Given the description of an element on the screen output the (x, y) to click on. 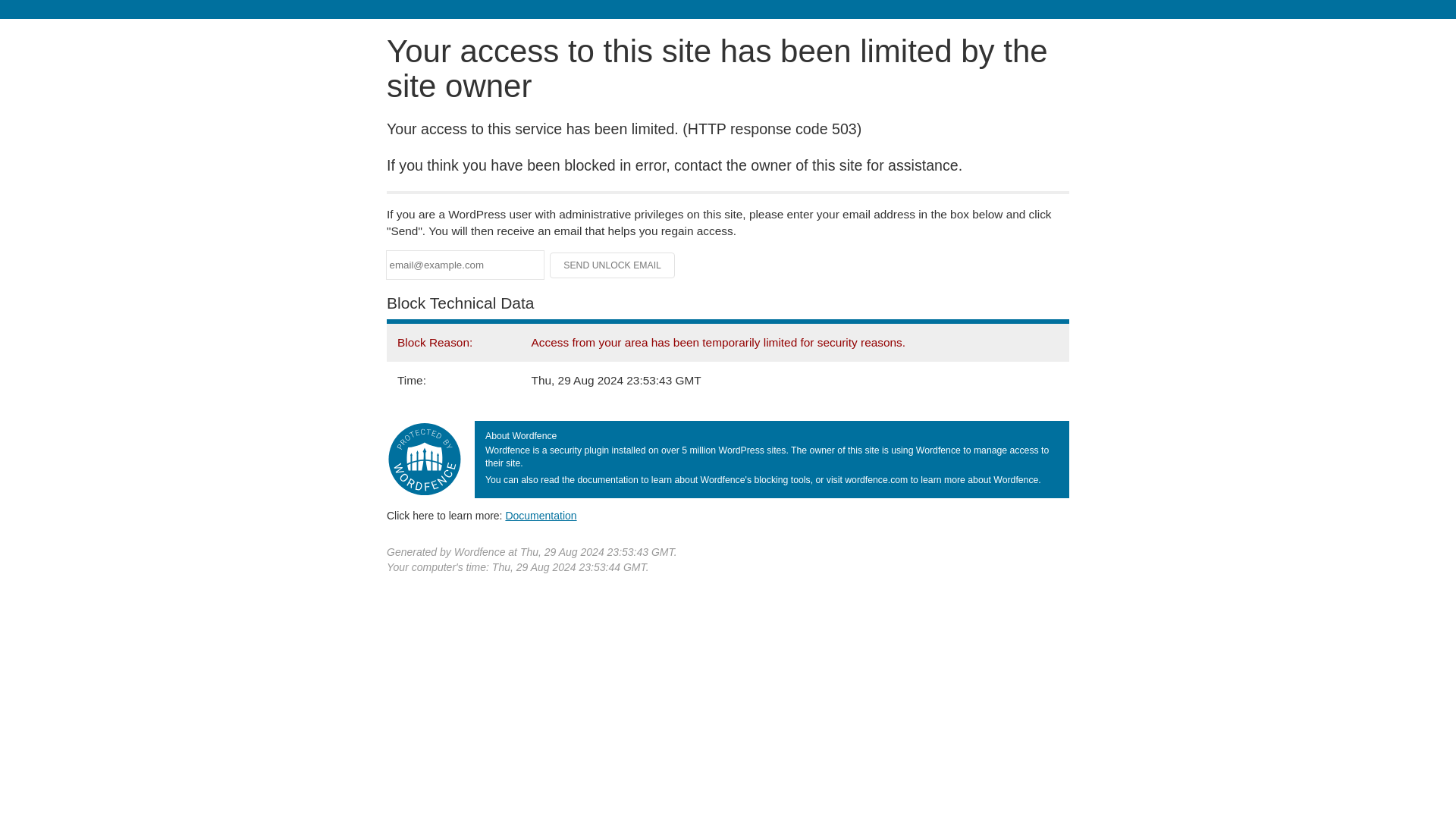
Documentation (540, 515)
Send Unlock Email (612, 265)
Send Unlock Email (612, 265)
